Given the description of an element on the screen output the (x, y) to click on. 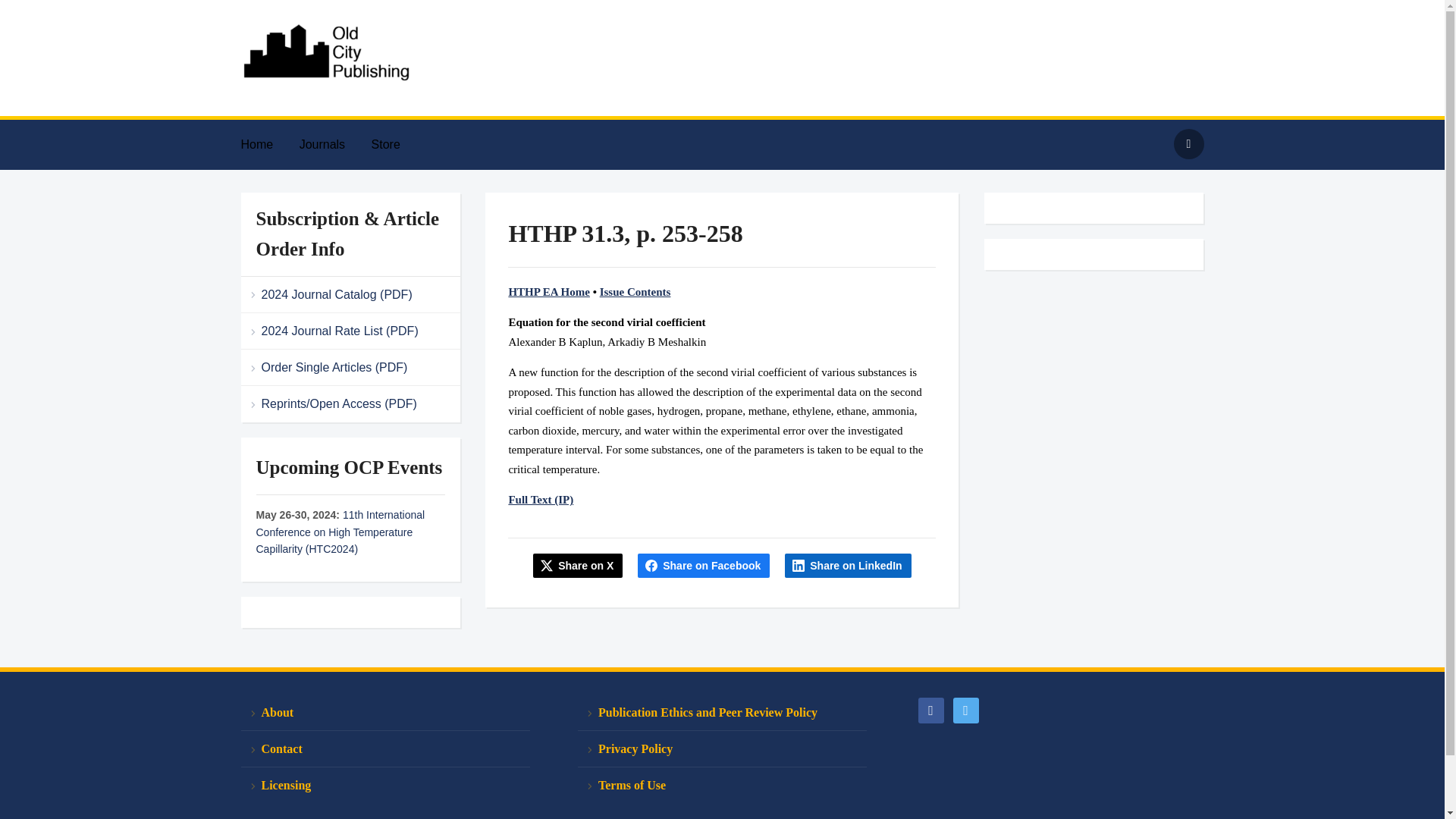
Journals (333, 144)
Share on Facebook (703, 565)
Terms of Use (722, 785)
facebook (930, 707)
twitter (965, 707)
Publication Ethics and Peer Review Policy (722, 712)
Share this on X (577, 565)
Contact (385, 749)
Share on LinkedIn (847, 565)
Licensing (385, 785)
